Given the description of an element on the screen output the (x, y) to click on. 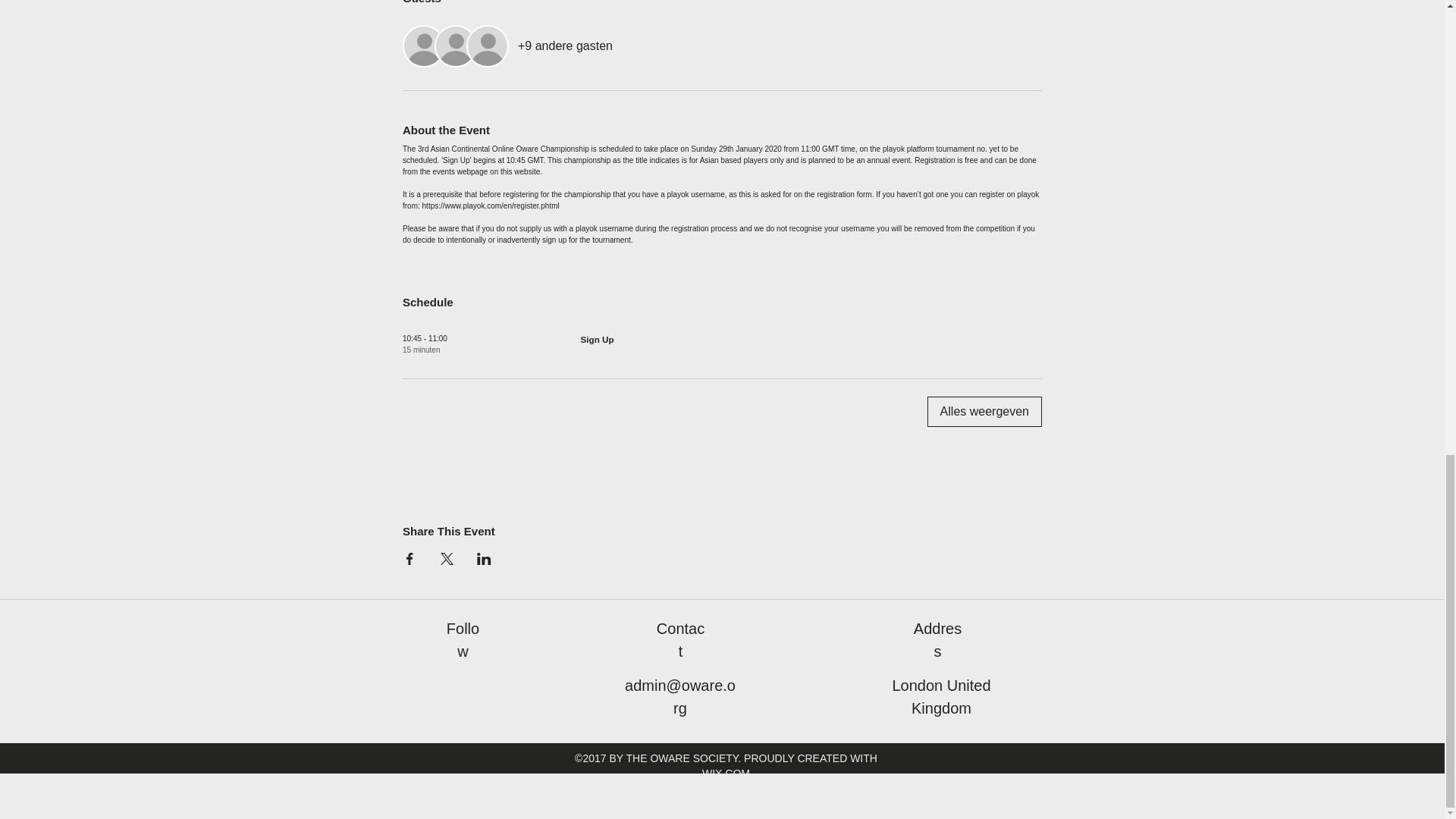
Alles weergeven (984, 411)
playok (893, 148)
